Given the description of an element on the screen output the (x, y) to click on. 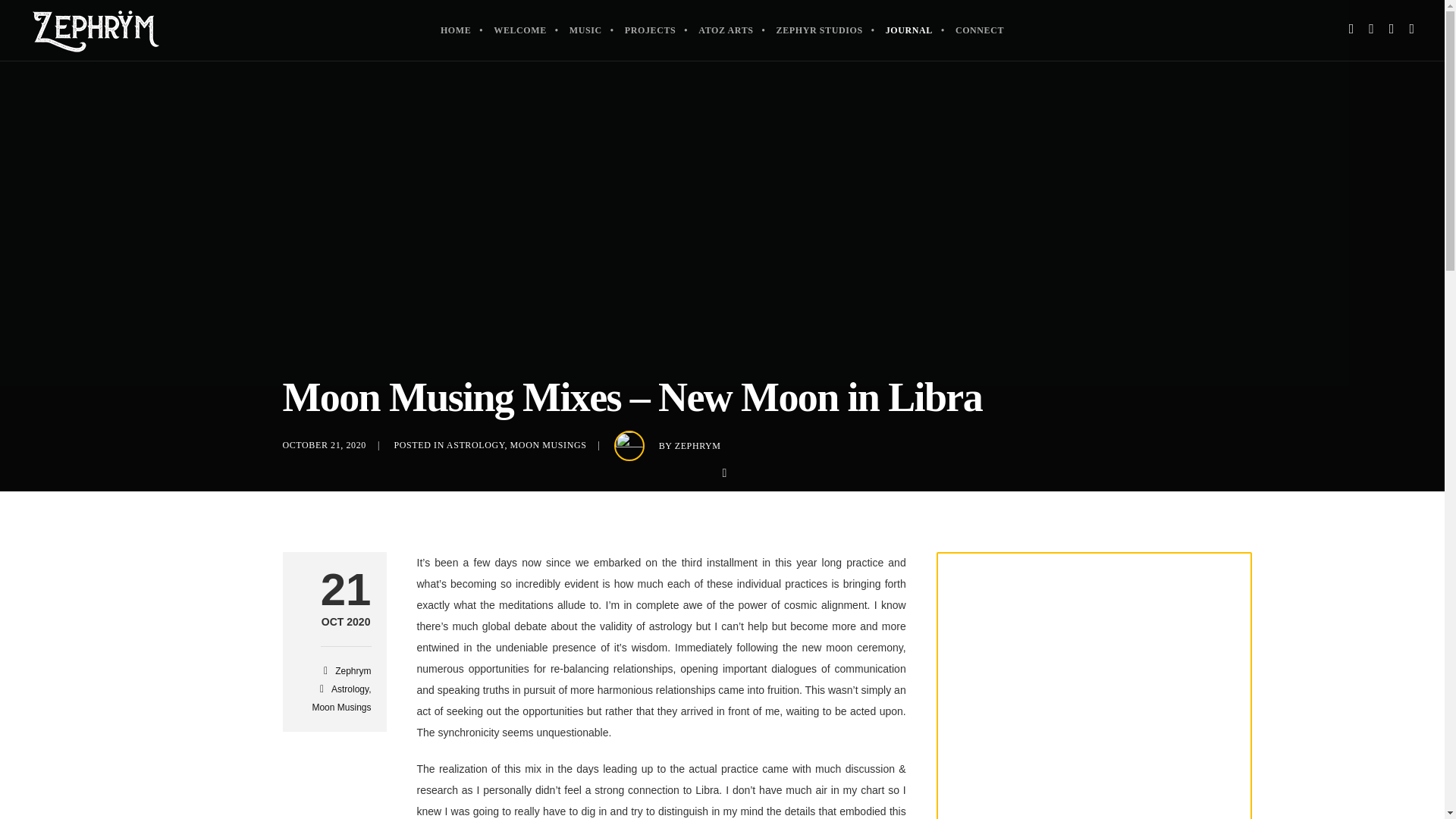
Astrology (349, 688)
Zephrym (352, 670)
WELCOME (519, 30)
JOURNAL (909, 30)
View all posts in Moon Musings (548, 444)
PROJECTS (345, 622)
ZEPHYR STUDIOS (649, 30)
ATOZ ARTS (820, 30)
ZEPHRYM (725, 30)
